Given the description of an element on the screen output the (x, y) to click on. 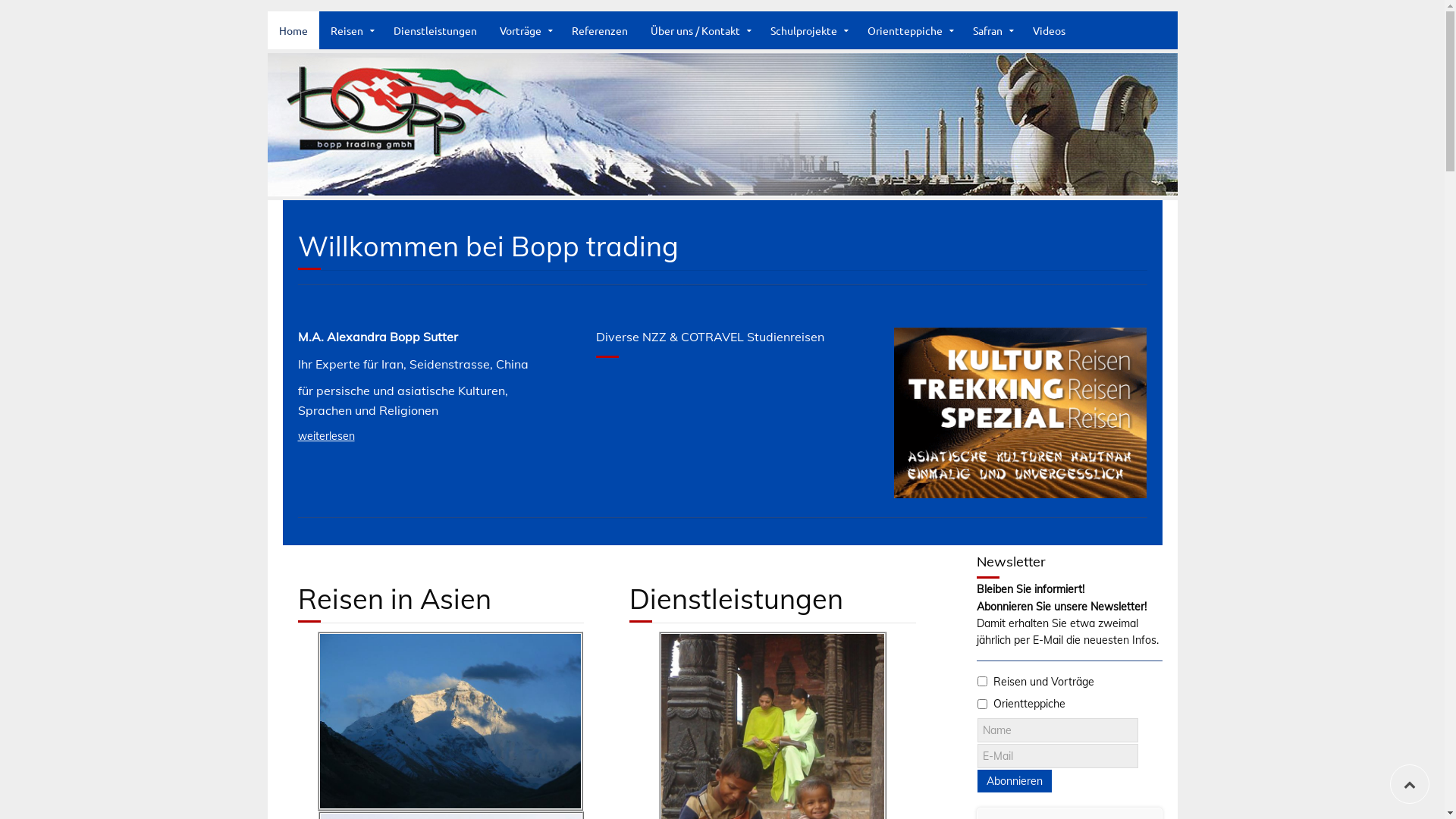
Home Element type: text (292, 30)
Dienstleistungen Element type: text (435, 30)
Referenzen Element type: text (598, 30)
Abonnieren Element type: text (1013, 780)
Schulprojekte Element type: text (806, 30)
Safran Element type: text (991, 30)
Videos Element type: text (1048, 30)
Reisen Element type: text (349, 30)
weiterlesen Element type: text (325, 435)
Orientteppiche Element type: text (907, 30)
Diverse NZZ & COTRAVEL Studienreisen Element type: text (710, 336)
 (1/9) Element type: hover (450, 720)
